Given the description of an element on the screen output the (x, y) to click on. 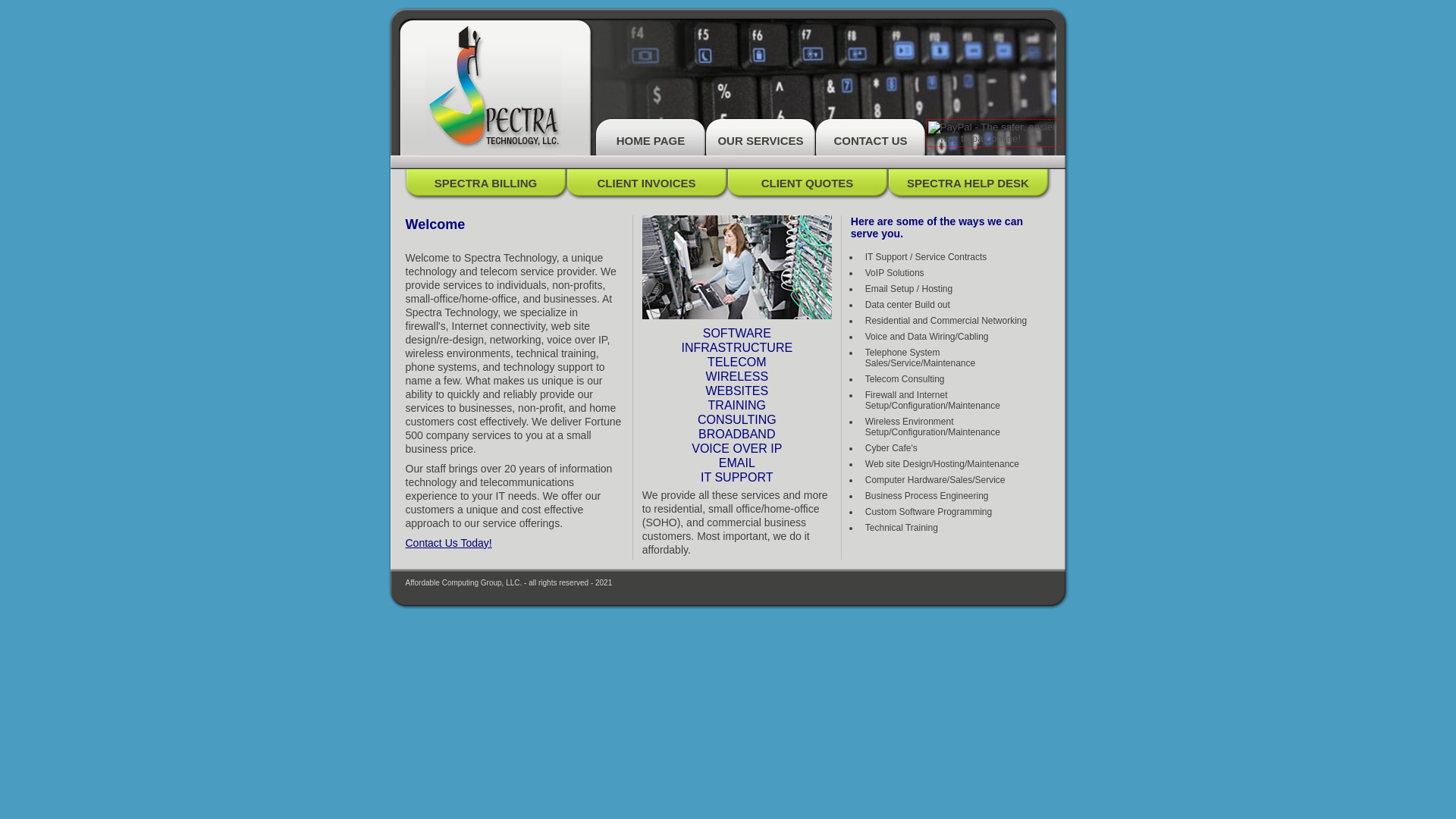
OUR SERVICES (759, 136)
SPECTRA HELP DESK (968, 182)
CONTACT US (870, 136)
SPECTRA BILLING (486, 182)
Contact Us Today! (448, 542)
CLIENT INVOICES (647, 182)
HOME PAGE (650, 136)
CLIENT QUOTES (808, 182)
